Given the description of an element on the screen output the (x, y) to click on. 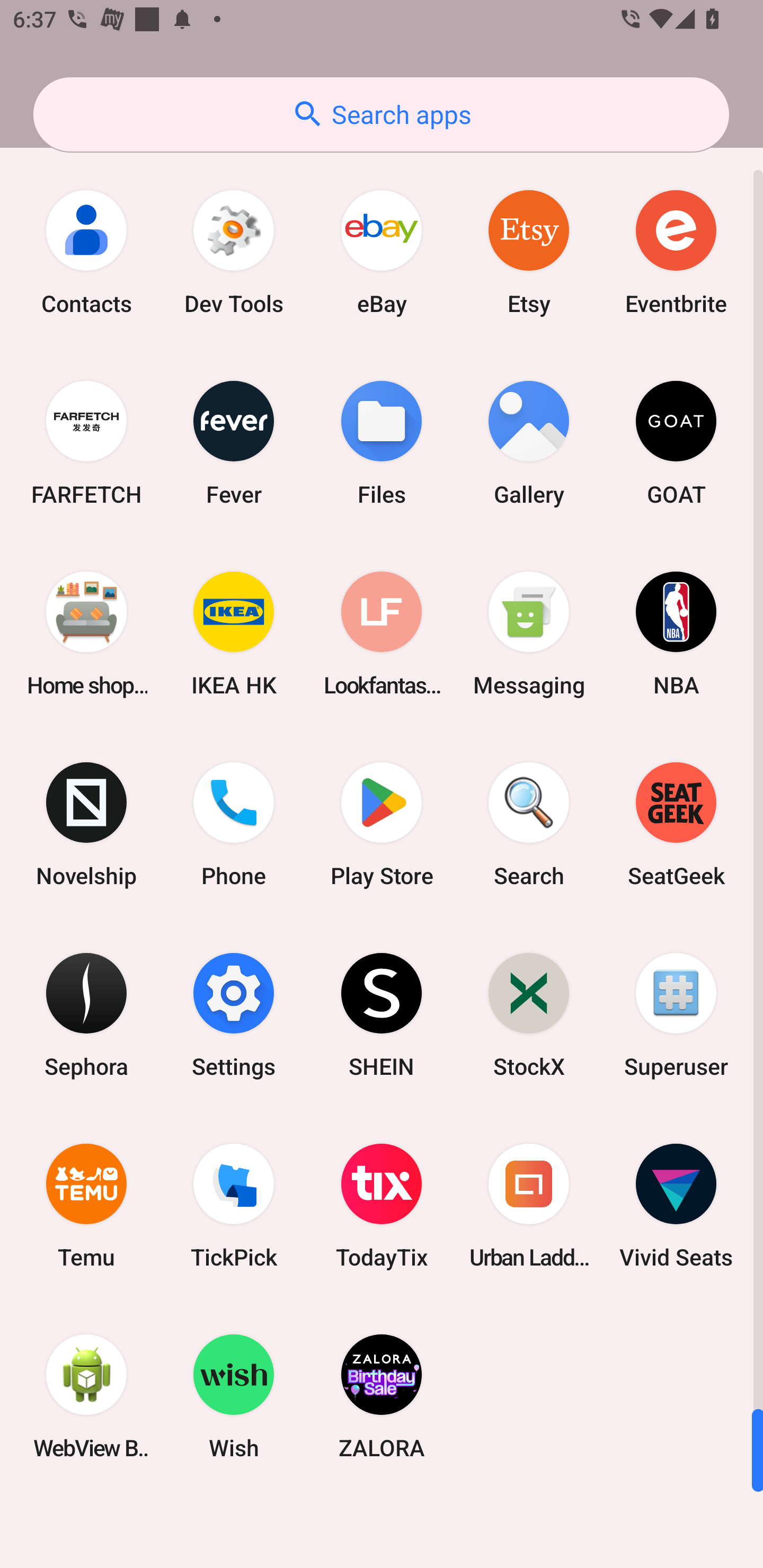
  Search apps (381, 114)
Contacts (86, 252)
Dev Tools (233, 252)
eBay (381, 252)
Etsy (528, 252)
Eventbrite (676, 252)
FARFETCH (86, 442)
Fever (233, 442)
Files (381, 442)
Gallery (528, 442)
GOAT (676, 442)
Home shopping (86, 633)
IKEA HK (233, 633)
Lookfantastic (381, 633)
Messaging (528, 633)
NBA (676, 633)
Novelship (86, 823)
Phone (233, 823)
Play Store (381, 823)
Search (528, 823)
SeatGeek (676, 823)
Sephora (86, 1014)
Settings (233, 1014)
SHEIN (381, 1014)
StockX (528, 1014)
Superuser (676, 1014)
Temu (86, 1205)
TickPick (233, 1205)
TodayTix (381, 1205)
Urban Ladder (528, 1205)
Vivid Seats (676, 1205)
WebView Browser Tester (86, 1396)
Wish (233, 1396)
ZALORA (381, 1396)
